Given the description of an element on the screen output the (x, y) to click on. 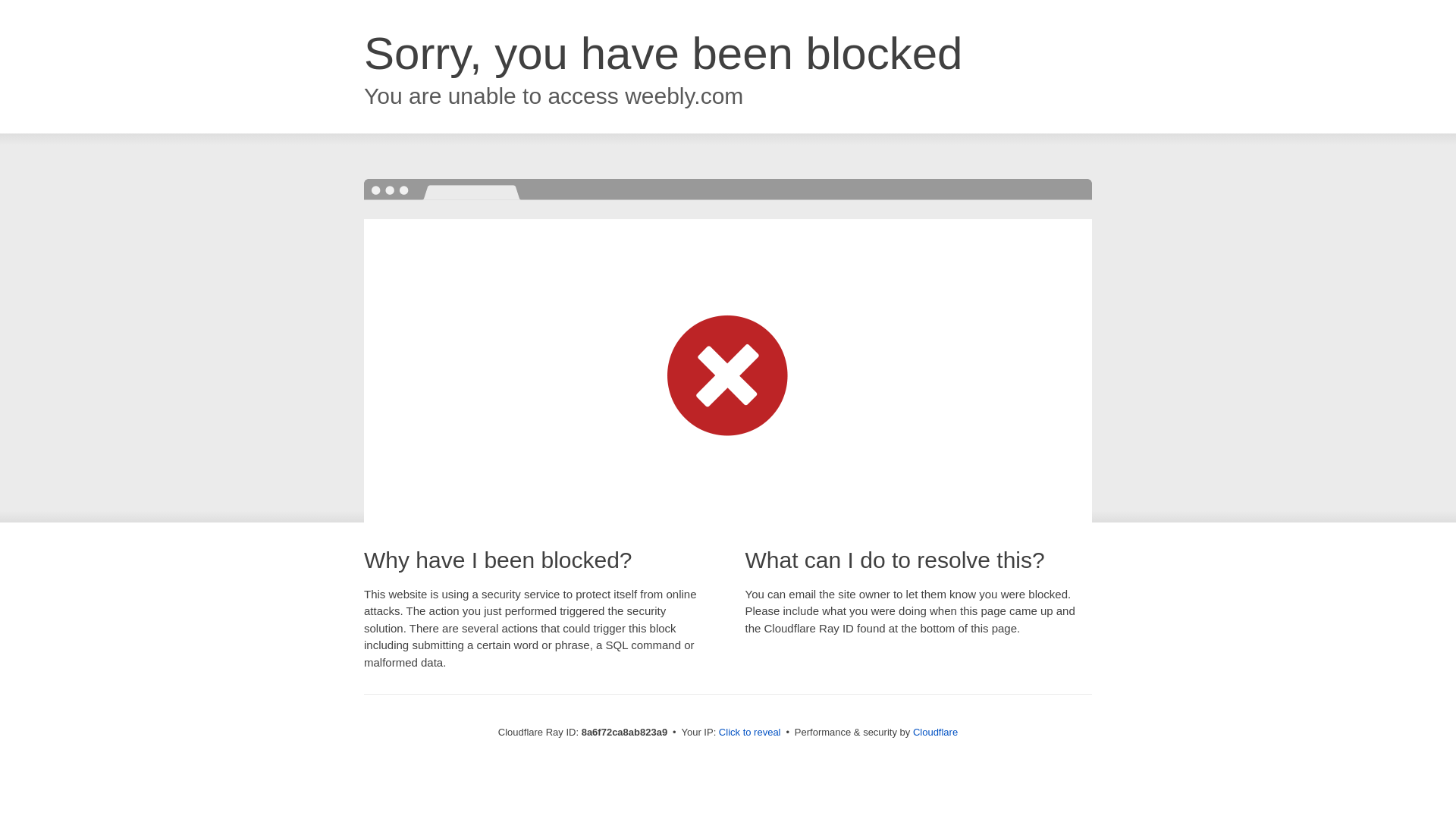
Cloudflare (935, 731)
Click to reveal (749, 732)
